Given the description of an element on the screen output the (x, y) to click on. 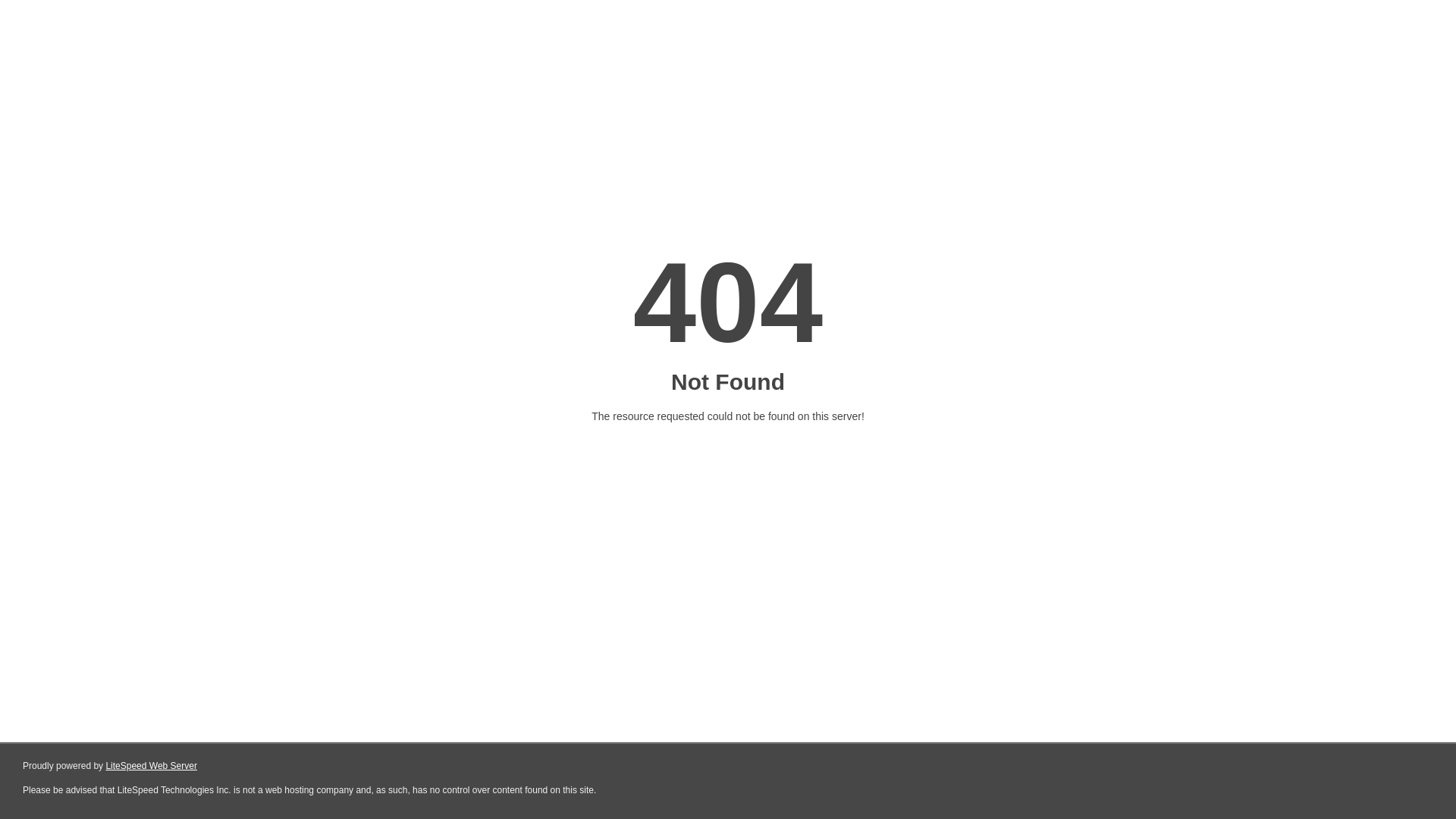
LiteSpeed Web Server Element type: text (151, 765)
